Given the description of an element on the screen output the (x, y) to click on. 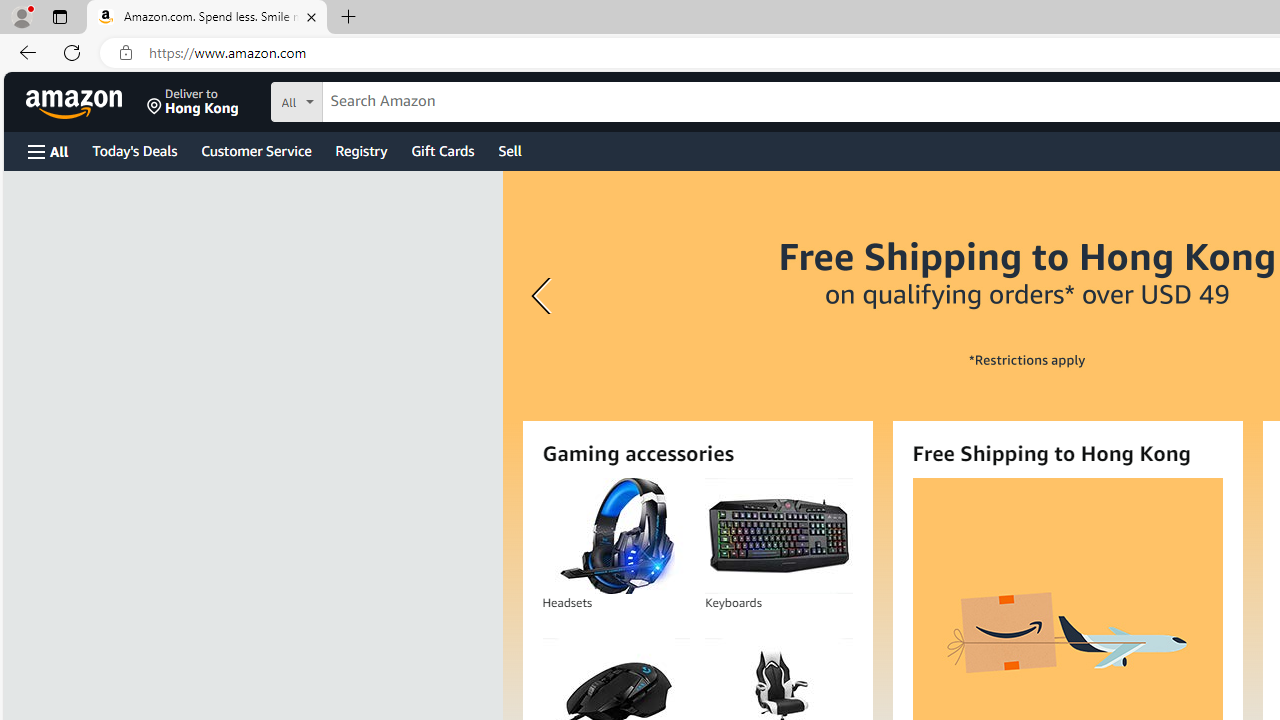
Amazon.com. Spend less. Smile more. (207, 17)
Keyboards (778, 536)
Previous slide (544, 296)
Open Menu (48, 151)
